Given the description of an element on the screen output the (x, y) to click on. 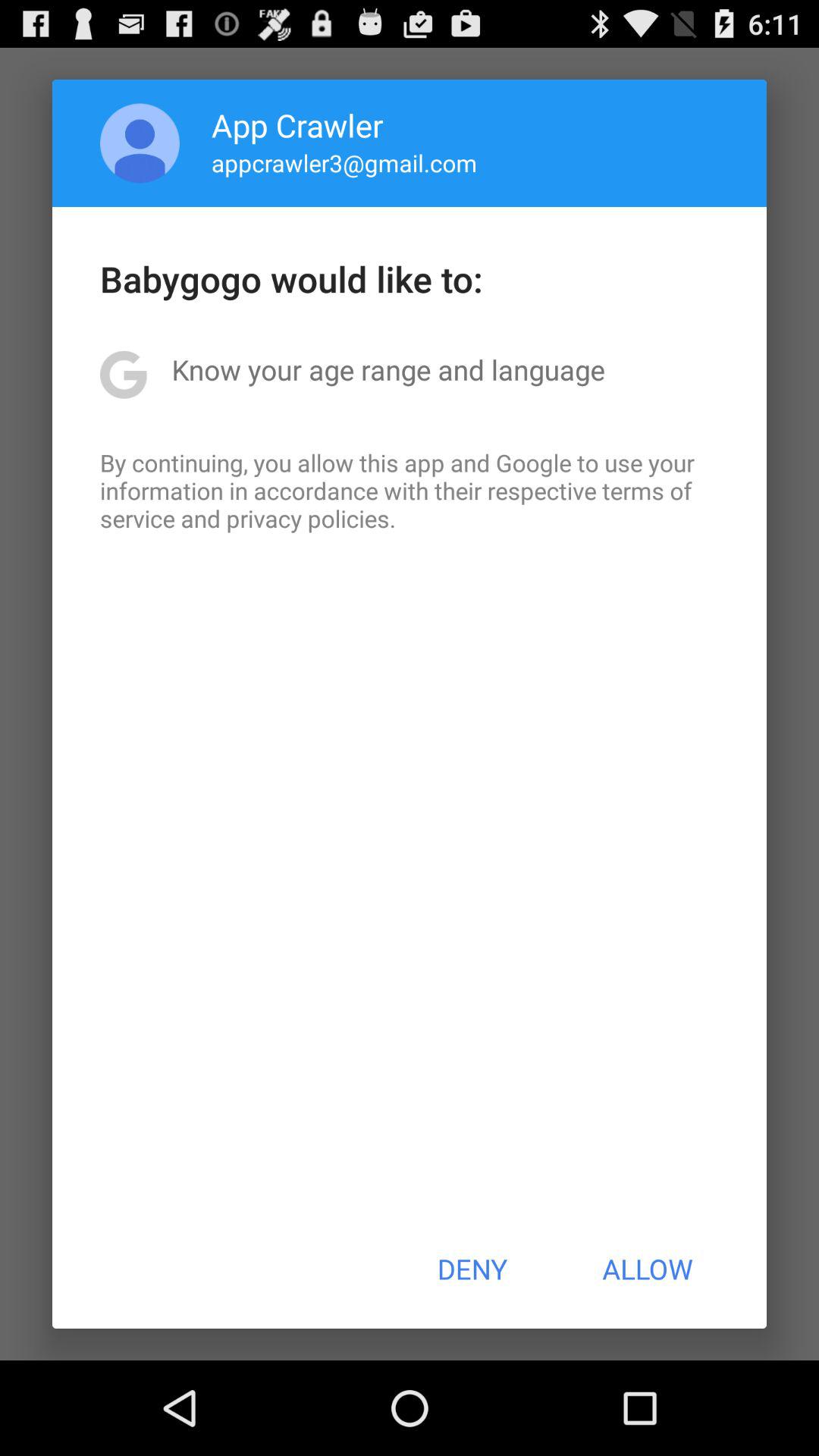
choose app above the appcrawler3@gmail.com icon (297, 124)
